Given the description of an element on the screen output the (x, y) to click on. 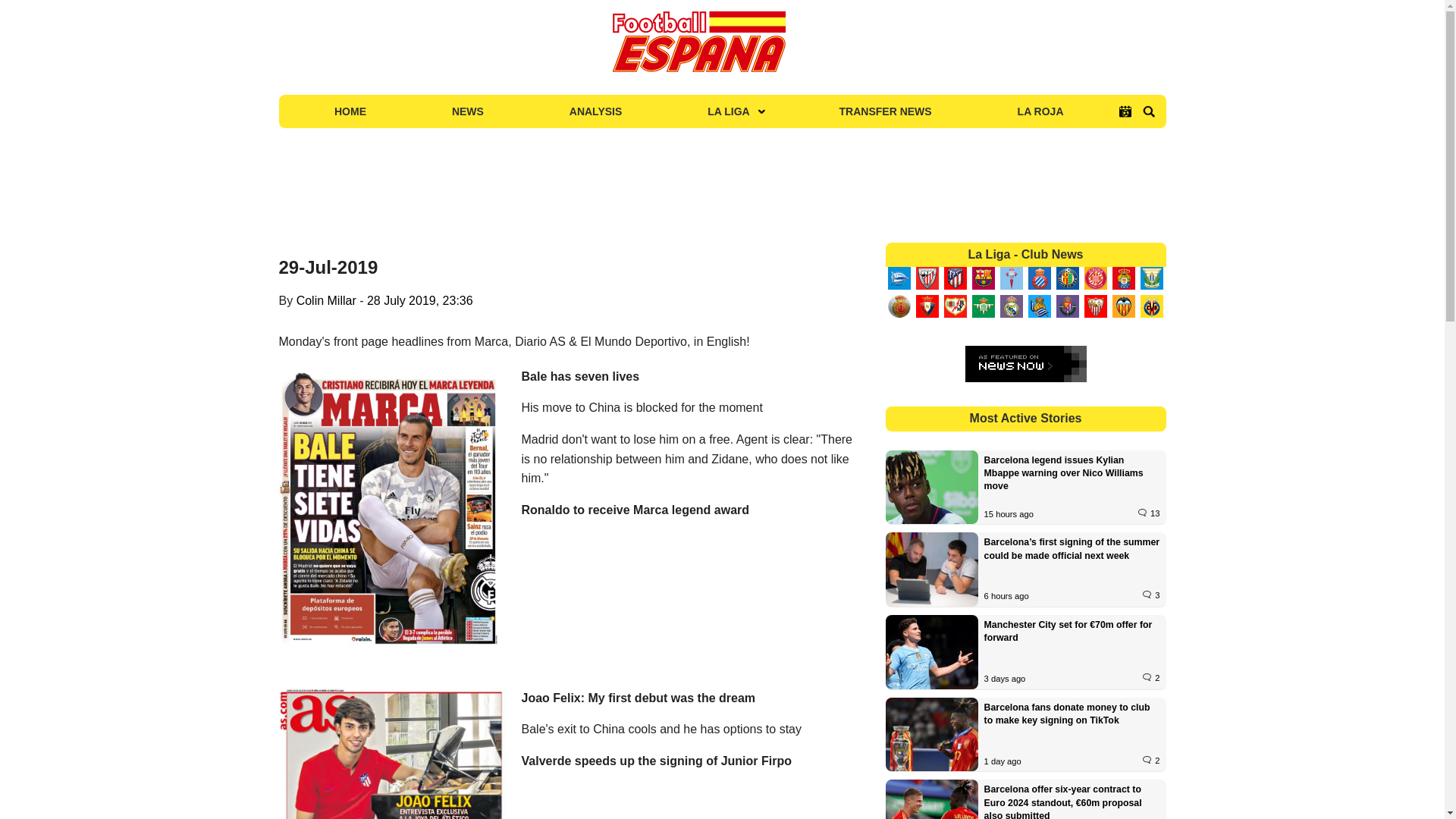
Search (1147, 111)
LA LIGA (729, 111)
Latest Espanyol News (1038, 277)
Latest Getafe News (1066, 277)
Latest Mallorca News (899, 305)
Latest Las Palmas News (1123, 277)
ANALYSIS (595, 111)
Latest Barcelona News (983, 277)
TRANSFER NEWS (885, 111)
LA ROJA (1040, 111)
Latest Girona News (1095, 277)
HOME (350, 111)
NEWS (468, 111)
Latest Celta News (1011, 277)
La Liga Fixtures (1125, 111)
